Given the description of an element on the screen output the (x, y) to click on. 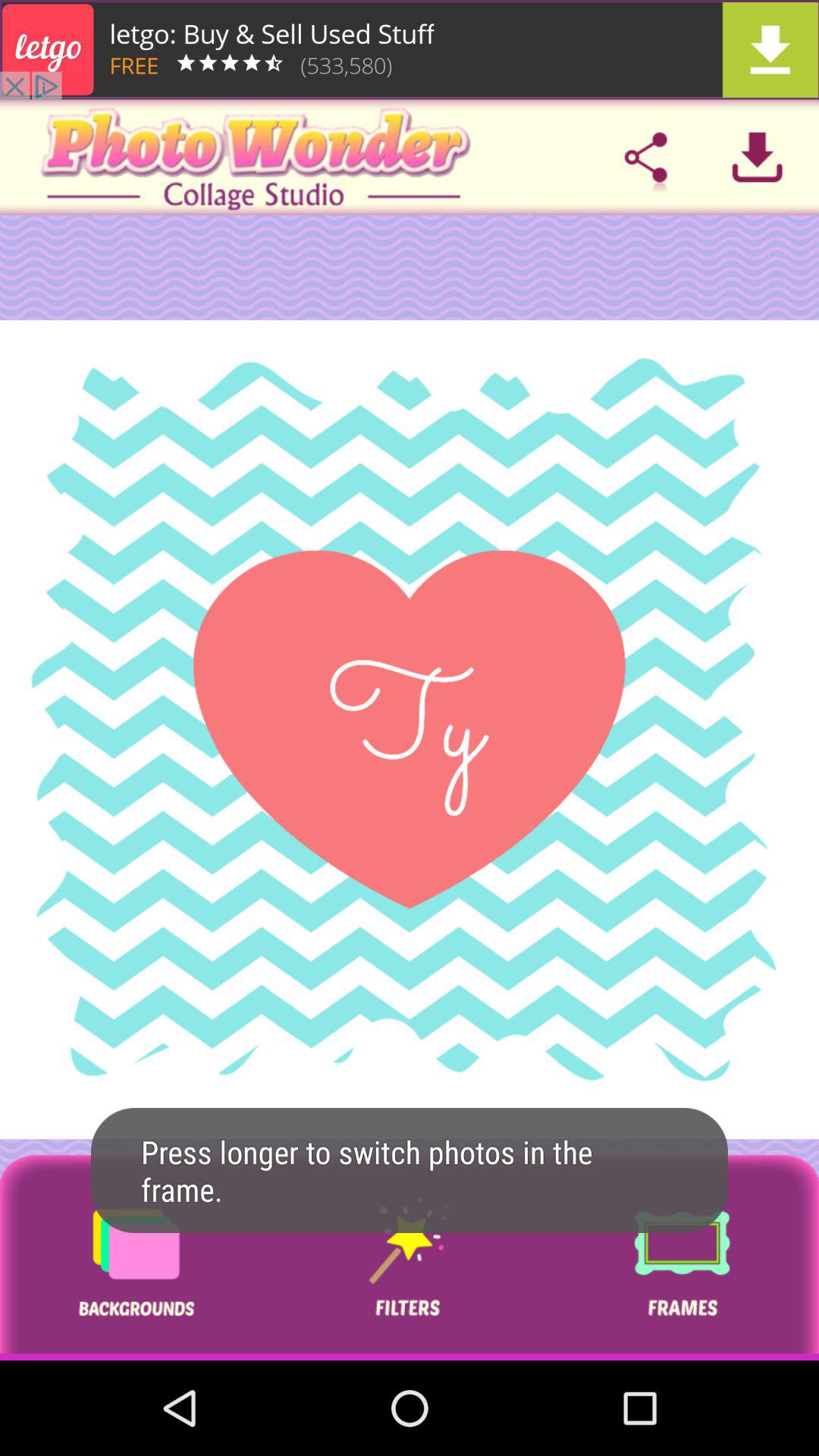
select frames option (681, 1257)
